Given the description of an element on the screen output the (x, y) to click on. 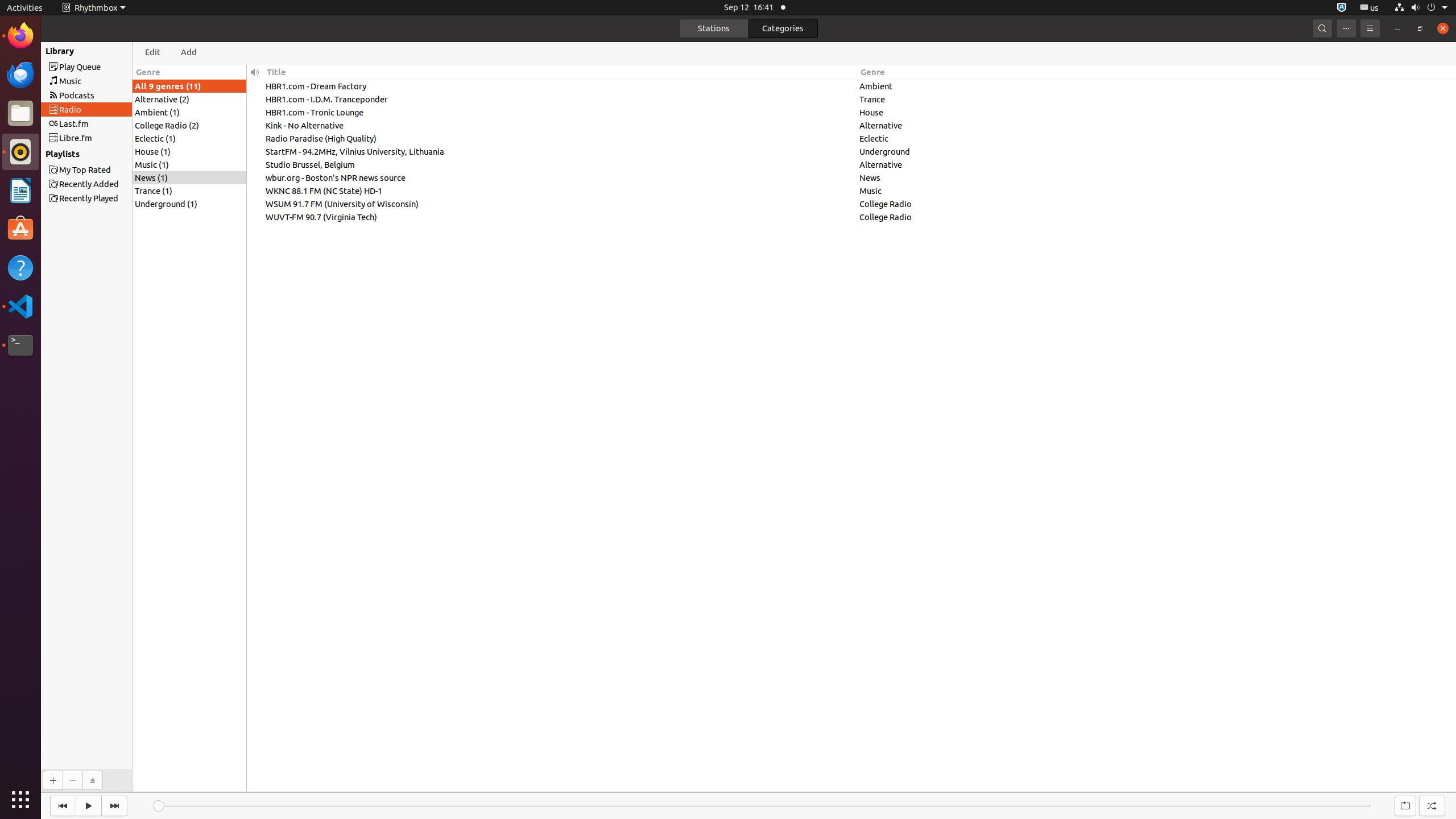
Kink - No Alternative Element type: table-cell (559, 125)
Alternative Element type: table-cell (1156, 125)
Last.fm Element type: table-cell (106, 123)
HBR1.com - Tronic Lounge Element type: table-cell (559, 112)
